Given the description of an element on the screen output the (x, y) to click on. 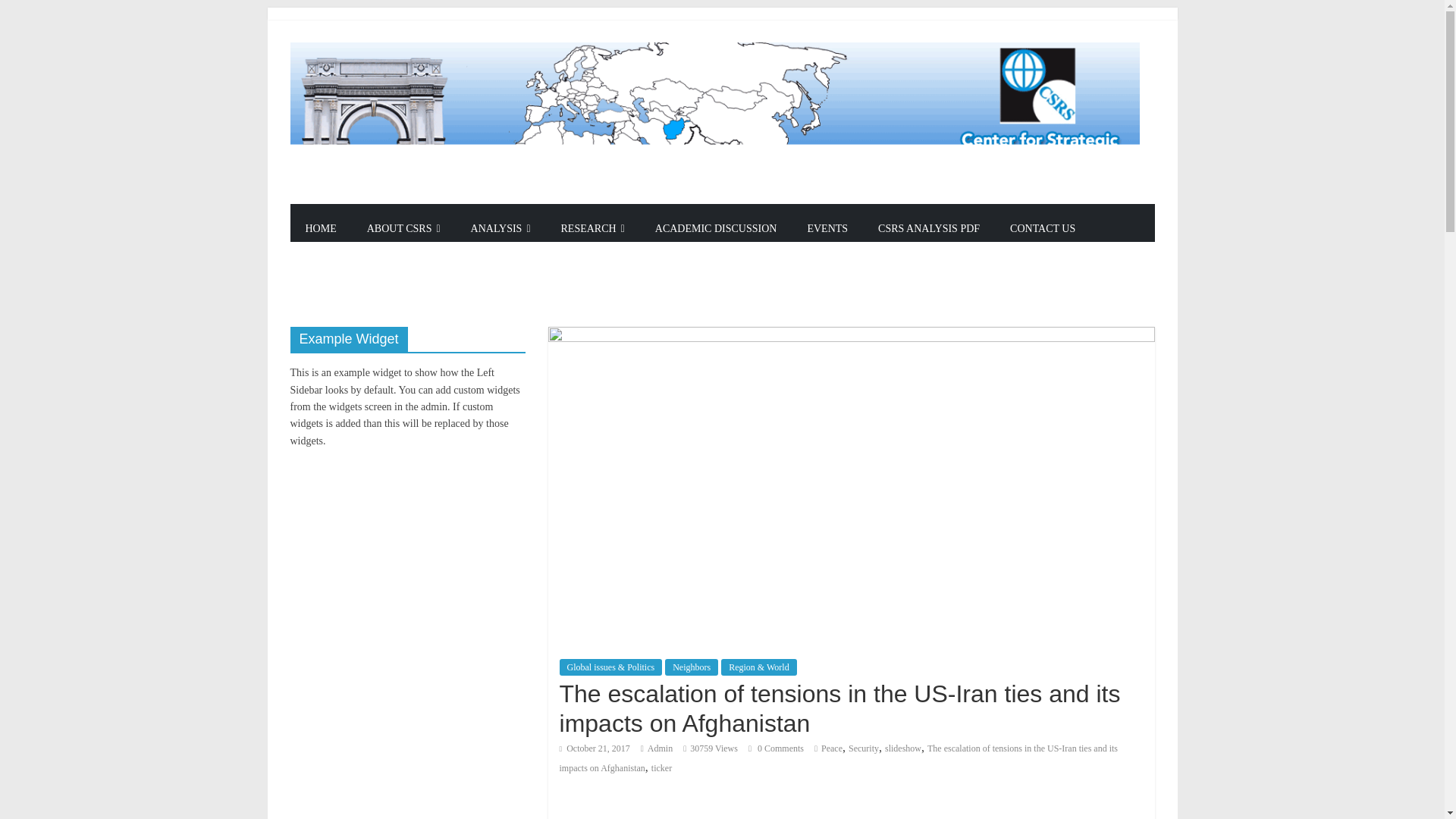
0 Comments (775, 747)
slideshow (903, 747)
October 21, 2017 (594, 747)
ANALYSIS (500, 228)
Admin (659, 747)
Neighbors (691, 667)
RESEARCH (593, 228)
OTHER LANGUAGES (359, 278)
Security (863, 747)
5:01 am (594, 747)
